Given the description of an element on the screen output the (x, y) to click on. 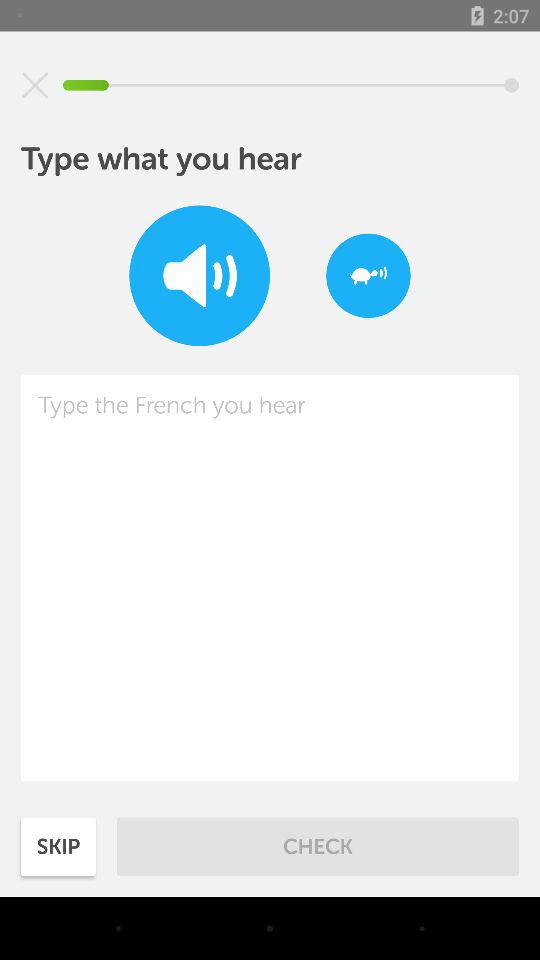
launch item next to the skip item (318, 846)
